Given the description of an element on the screen output the (x, y) to click on. 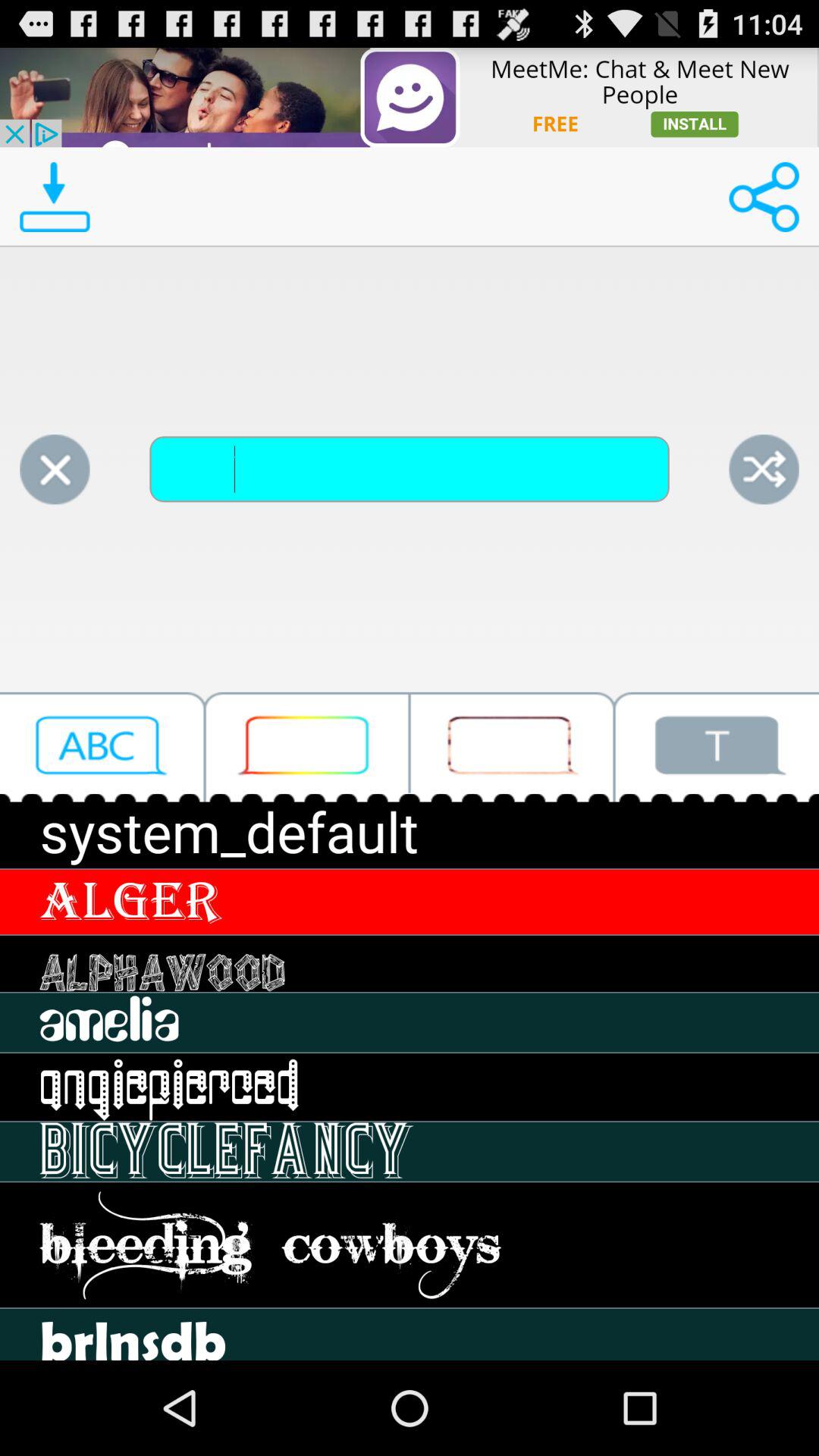
add text (716, 746)
